Given the description of an element on the screen output the (x, y) to click on. 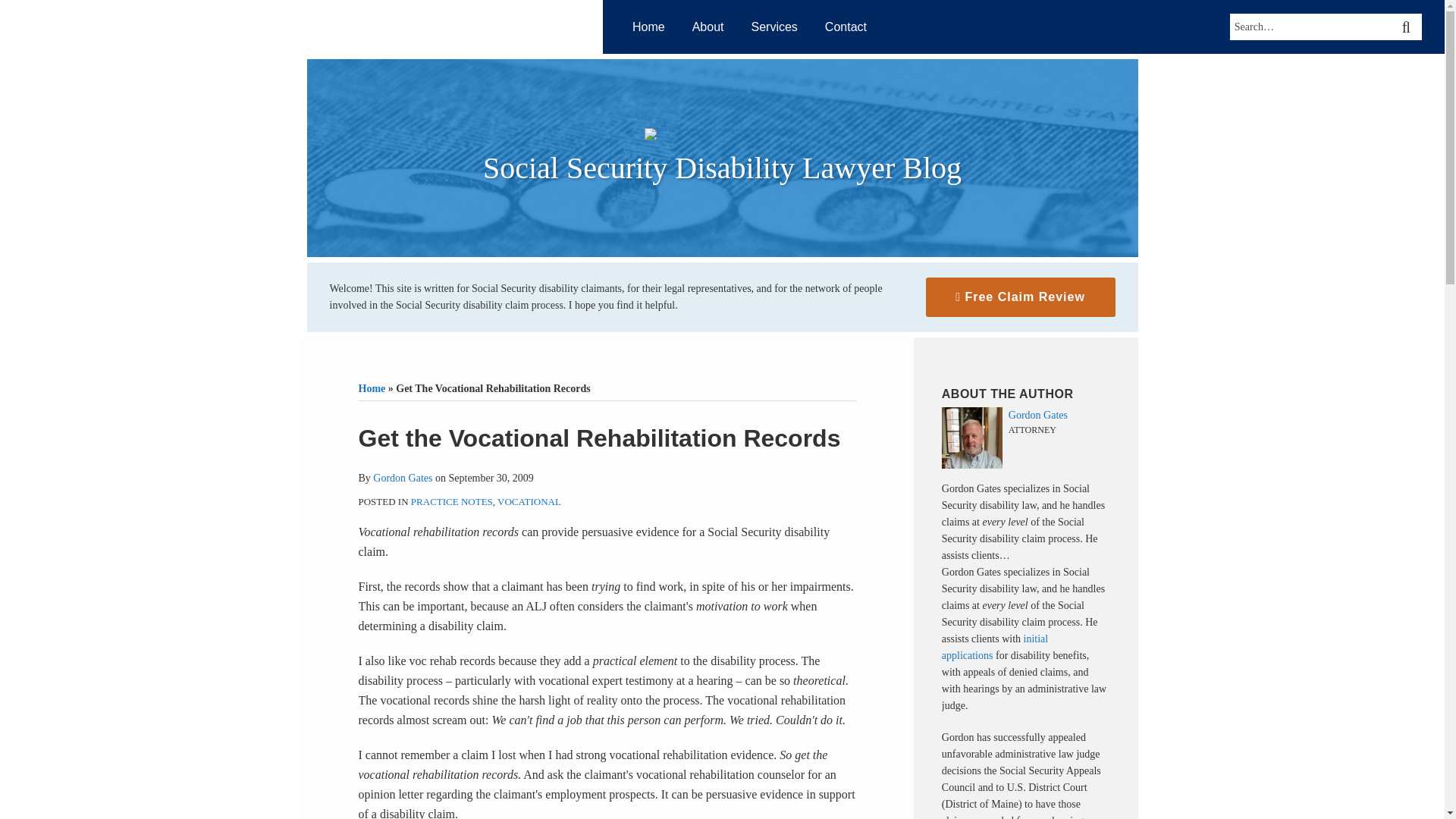
Social Security Disability Lawyer Blog (721, 167)
PRACTICE NOTES (451, 501)
Contact (845, 27)
Gordon Gates (1025, 415)
Home (371, 388)
Services (773, 27)
About (708, 27)
Home (648, 27)
Free Claim Review (1019, 296)
initial applications (995, 646)
Gordon Gates (402, 478)
VOCATIONAL (528, 501)
SEARCH (1408, 26)
